Given the description of an element on the screen output the (x, y) to click on. 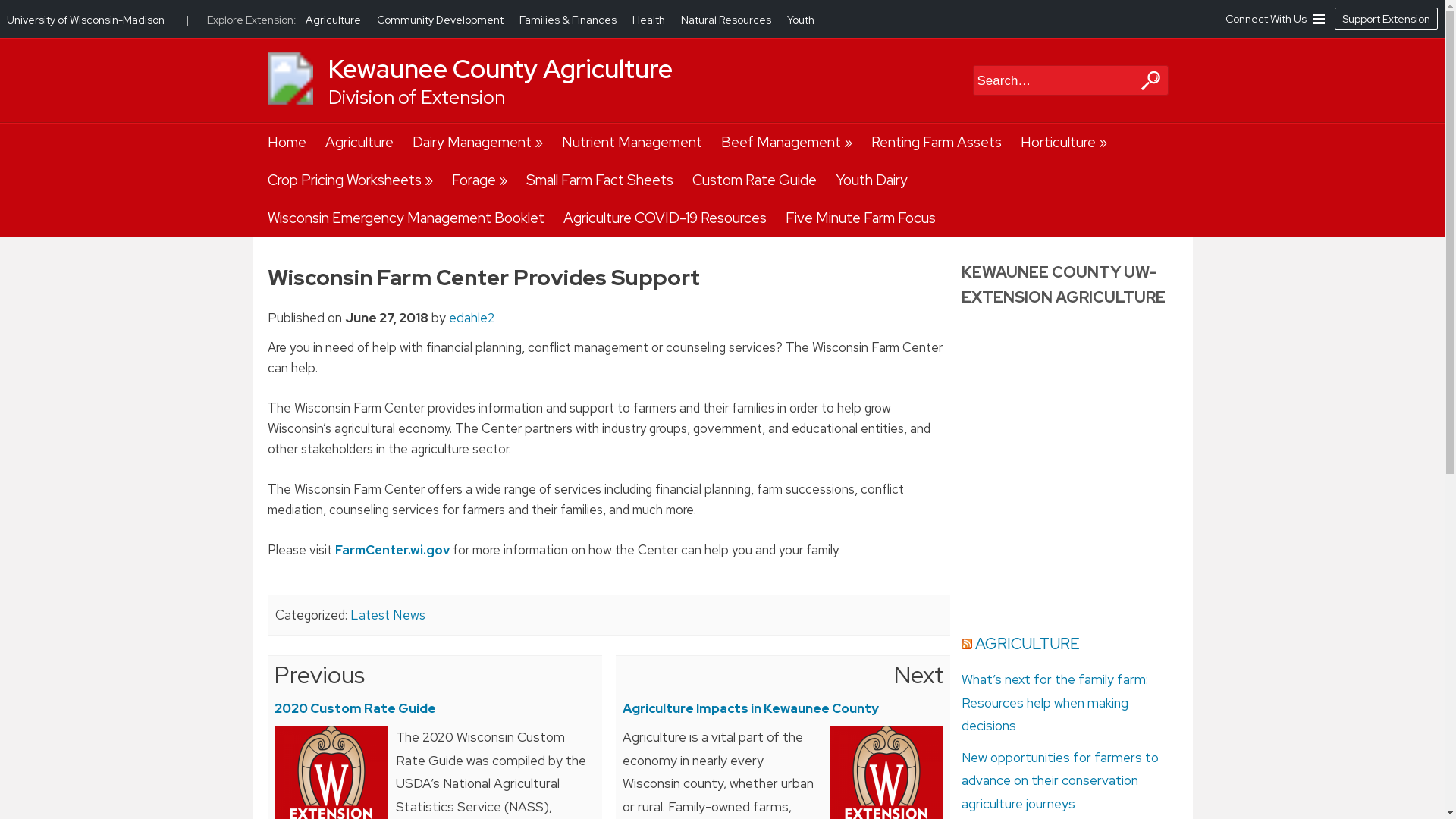
Division of Extension (415, 97)
Agriculture (358, 142)
Renting Farm Assets (935, 142)
View all posts by edahle2 (471, 317)
edahle2 (471, 317)
Agriculture Impacts in Kewaunee County (749, 708)
Home (285, 142)
Kewaunee County Agriculture (499, 68)
Kewaunee County Agriculture (499, 68)
Small Farm Fact Sheets (598, 180)
Crop Pricing Worksheets (349, 180)
Search (1056, 80)
Next (917, 675)
Five Minute Farm Focus (861, 218)
Horticulture (1063, 142)
